Given the description of an element on the screen output the (x, y) to click on. 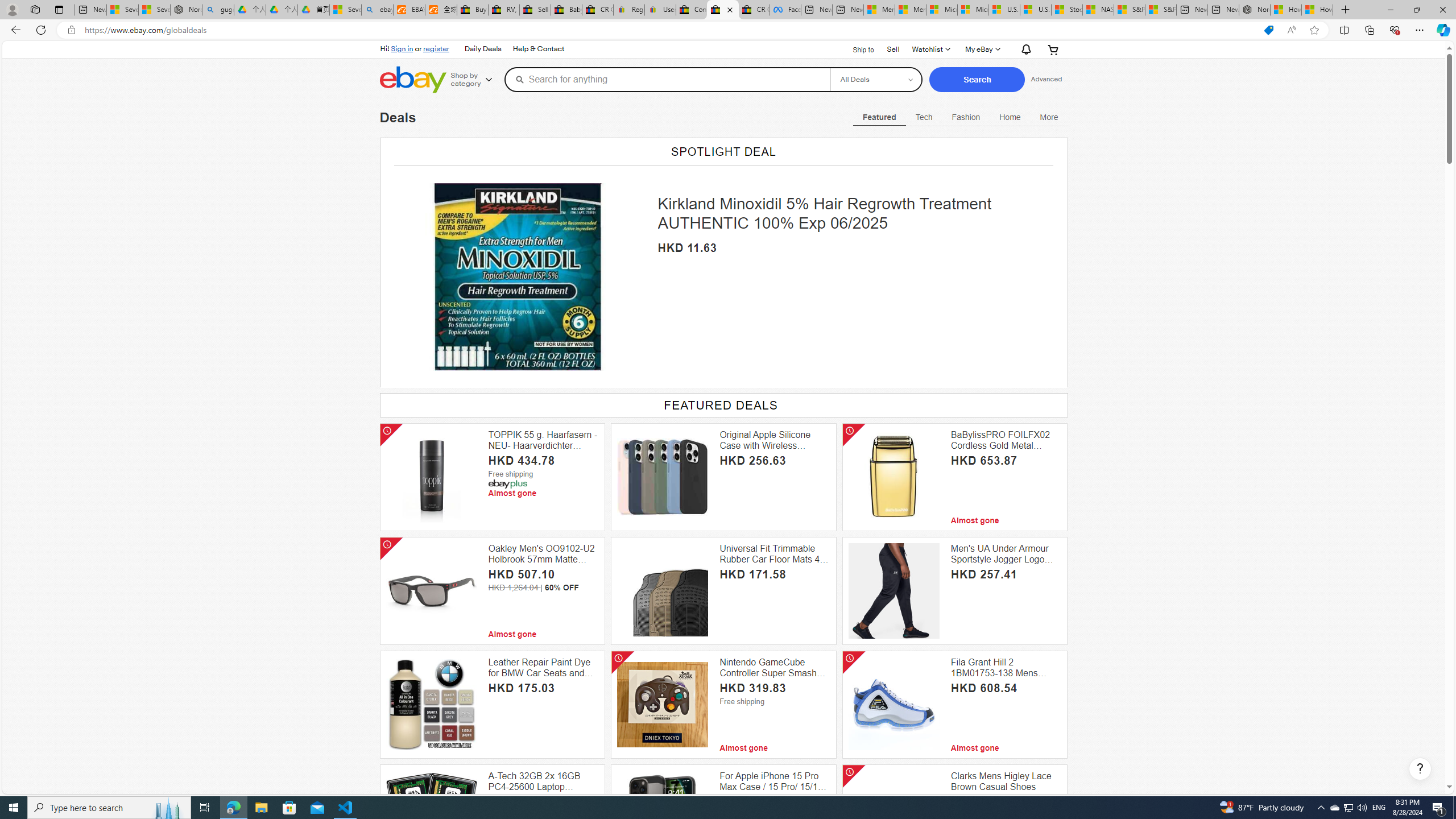
AutomationID: gh-eb-Alerts (1025, 49)
Tech (923, 116)
Collections (1369, 29)
Class: navigation-desktop-with-flyout selected open-left (879, 114)
My eBayExpand My eBay (982, 49)
S&P 500, Nasdaq end lower, weighed by Nvidia dip | Watch (1160, 9)
Personal Profile (12, 9)
register (435, 48)
Deals (398, 117)
New tab (1222, 9)
WatchlistExpand Watch List (930, 49)
This site has coupons! Shopping in Microsoft Edge (1268, 29)
More (1048, 116)
Read aloud this page (Ctrl+Shift+U) (1291, 29)
